Given the description of an element on the screen output the (x, y) to click on. 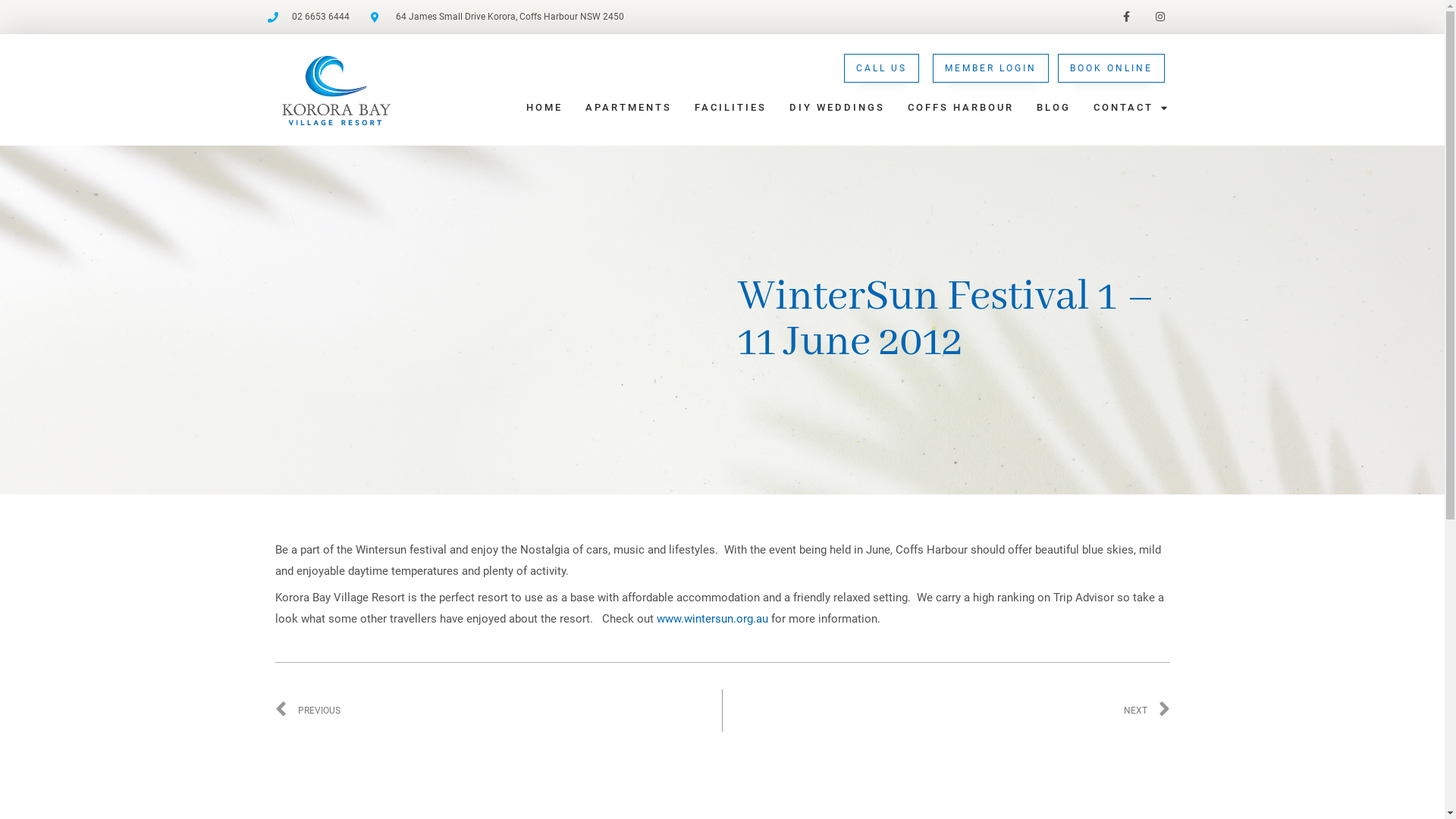
FACILITIES Element type: text (730, 107)
DIY WEDDINGS Element type: text (836, 107)
NEXT
Next Element type: text (946, 710)
Facebook-f Element type: text (1126, 17)
BLOG Element type: text (1053, 107)
Instagram Element type: text (1160, 17)
CONTACT Element type: text (1131, 107)
APARTMENTS Element type: text (628, 107)
www.wintersun.org.au Element type: text (712, 618)
COFFS HARBOUR Element type: text (960, 107)
CALL US Element type: text (881, 67)
Prev
PREVIOUS Element type: text (497, 710)
MEMBER LOGIN Element type: text (990, 67)
BOOK ONLINE Element type: text (1110, 67)
02 6653 6444 Element type: text (307, 16)
HOME Element type: text (544, 107)
